Given the description of an element on the screen output the (x, y) to click on. 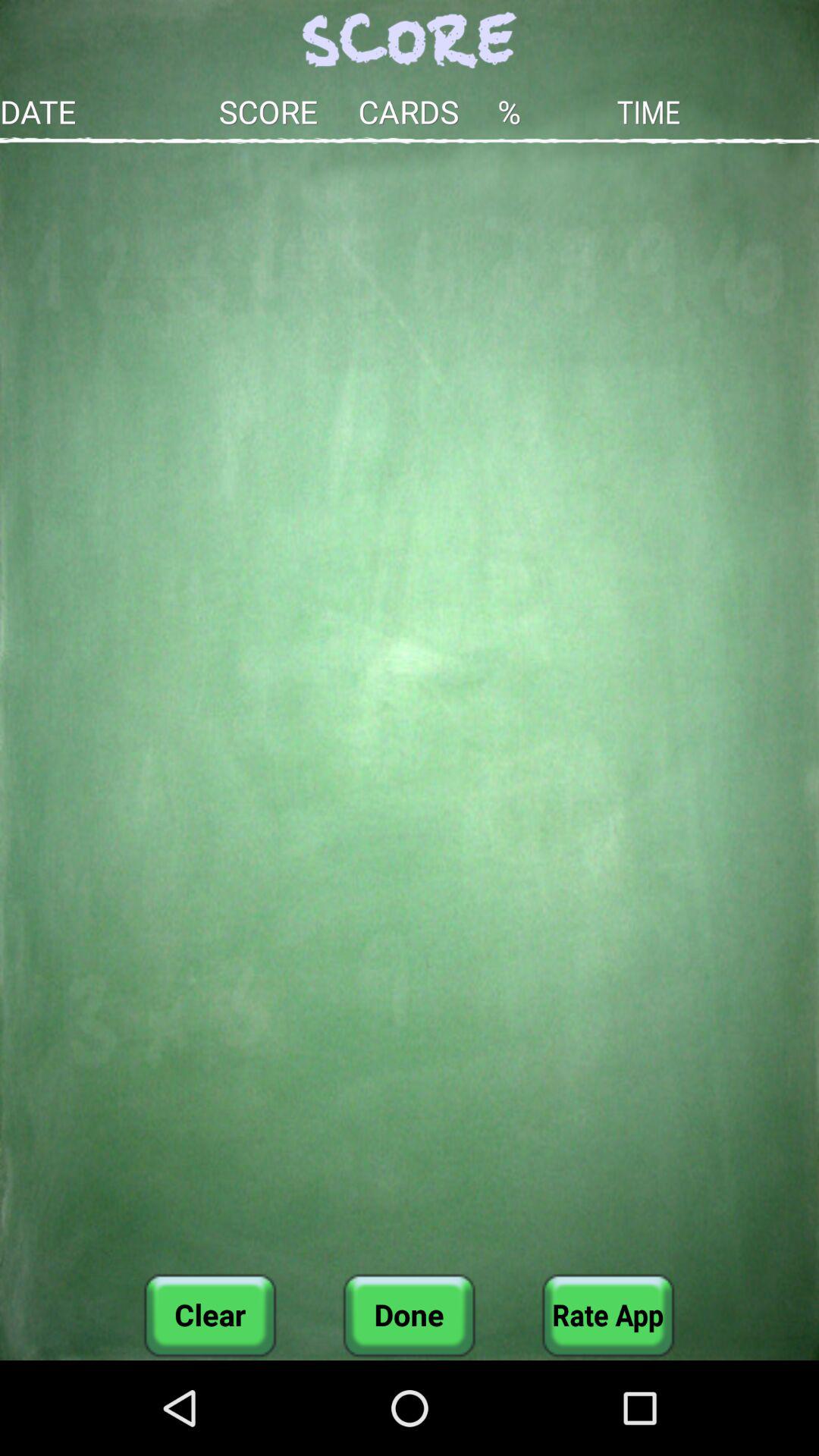
choose the button to the right of the done (607, 1315)
